Given the description of an element on the screen output the (x, y) to click on. 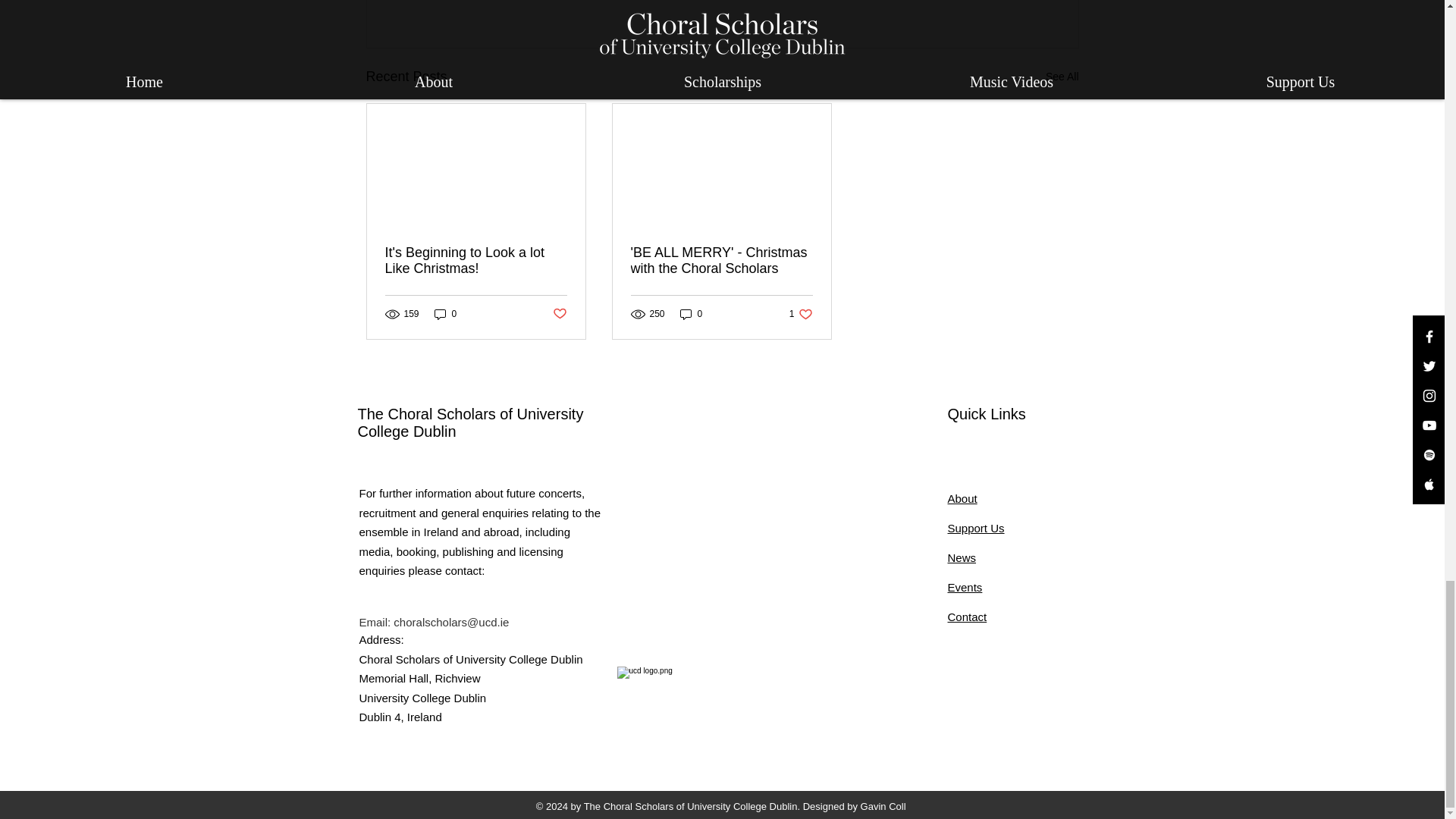
News (961, 557)
0 (691, 314)
Events (964, 586)
It's Beginning to Look a lot Like Christmas! (476, 260)
0 (800, 314)
See All (445, 314)
Support Us (1061, 76)
Post not marked as liked (975, 527)
'BE ALL MERRY' - Christmas with the Choral Scholars (558, 314)
About (721, 260)
Contact (961, 498)
Post not marked as liked (967, 616)
